Given the description of an element on the screen output the (x, y) to click on. 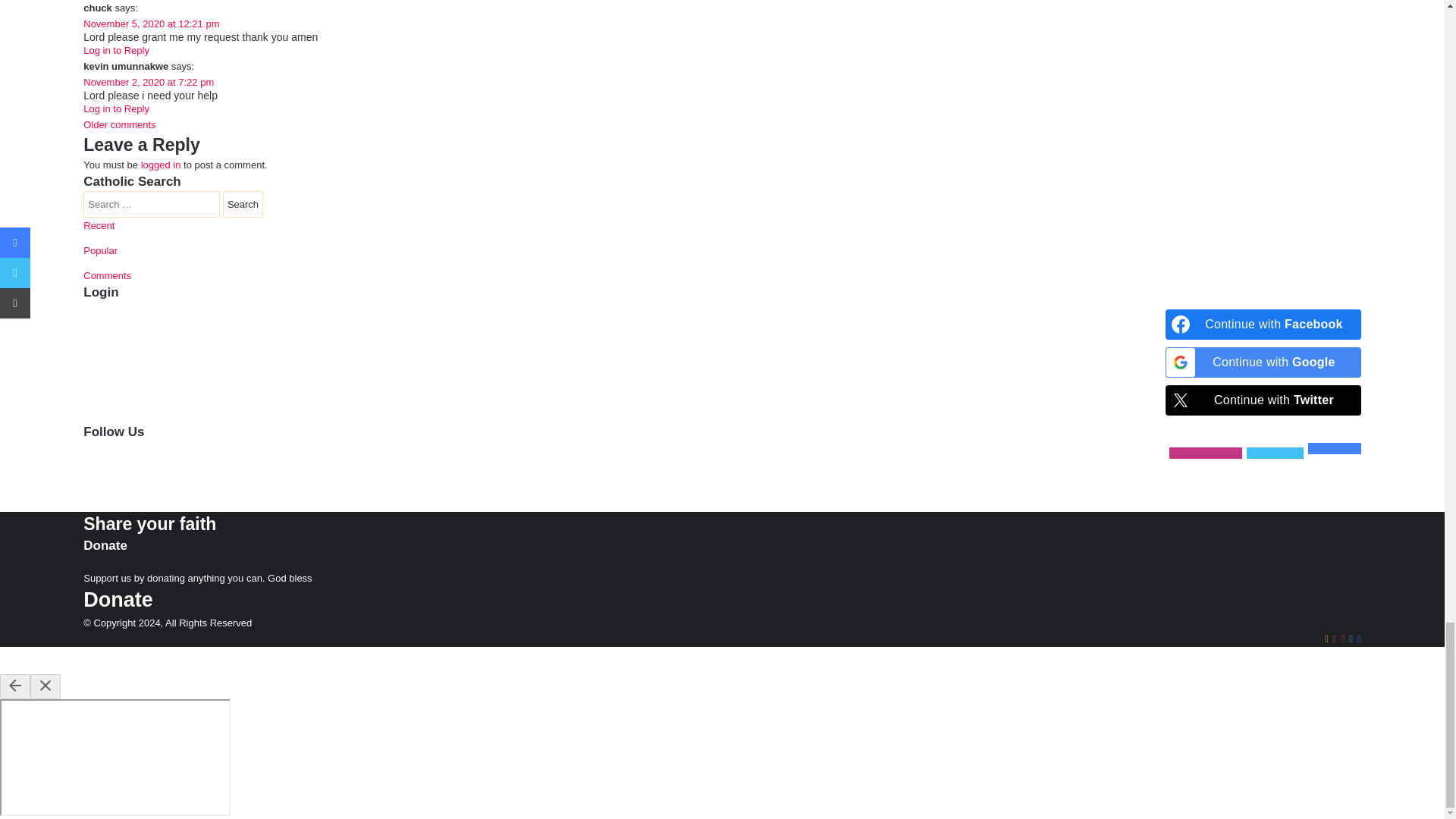
Search (242, 203)
Search (242, 203)
